Given the description of an element on the screen output the (x, y) to click on. 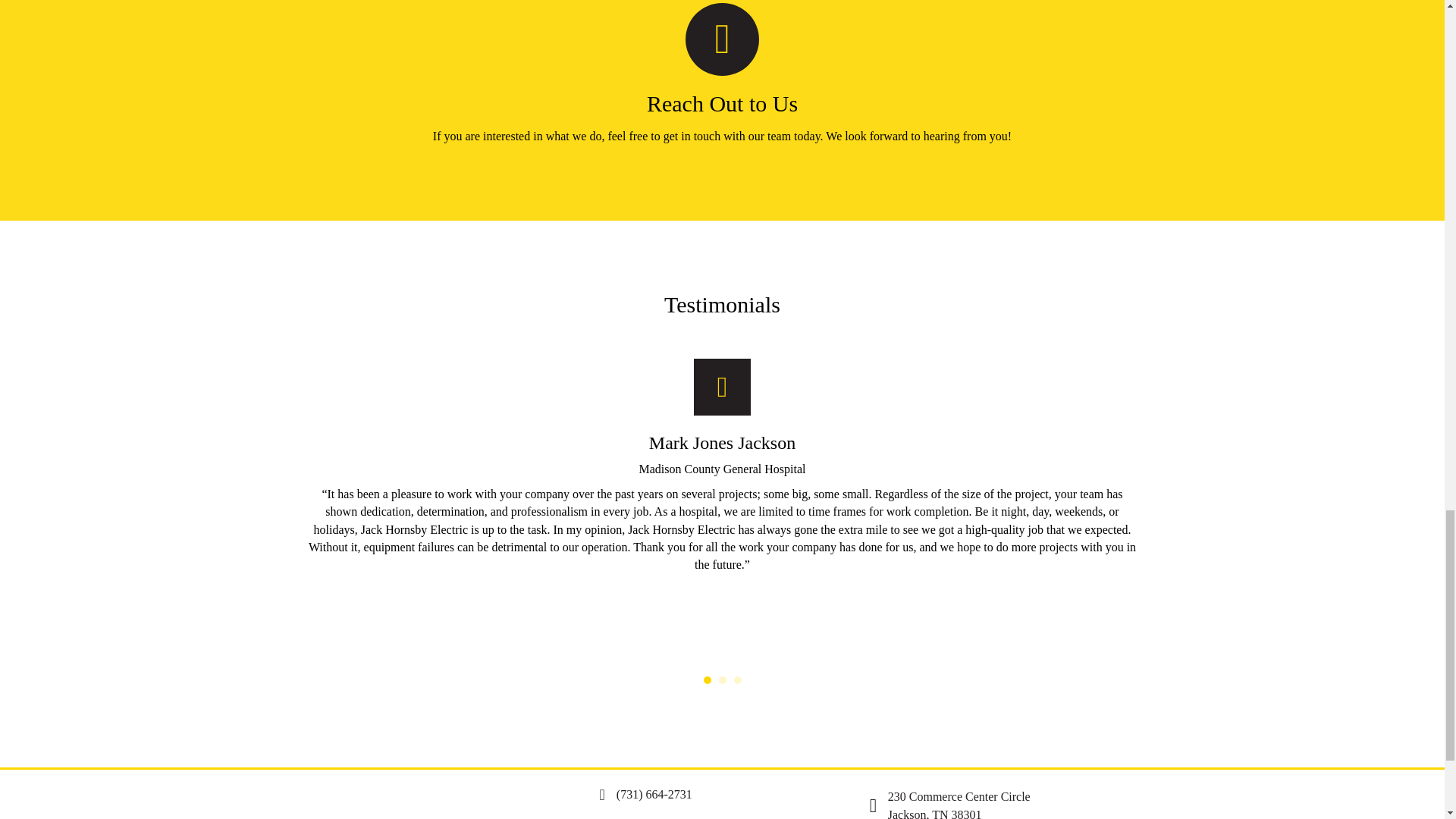
3 (737, 679)
2 (722, 679)
1 (707, 679)
